Given the description of an element on the screen output the (x, y) to click on. 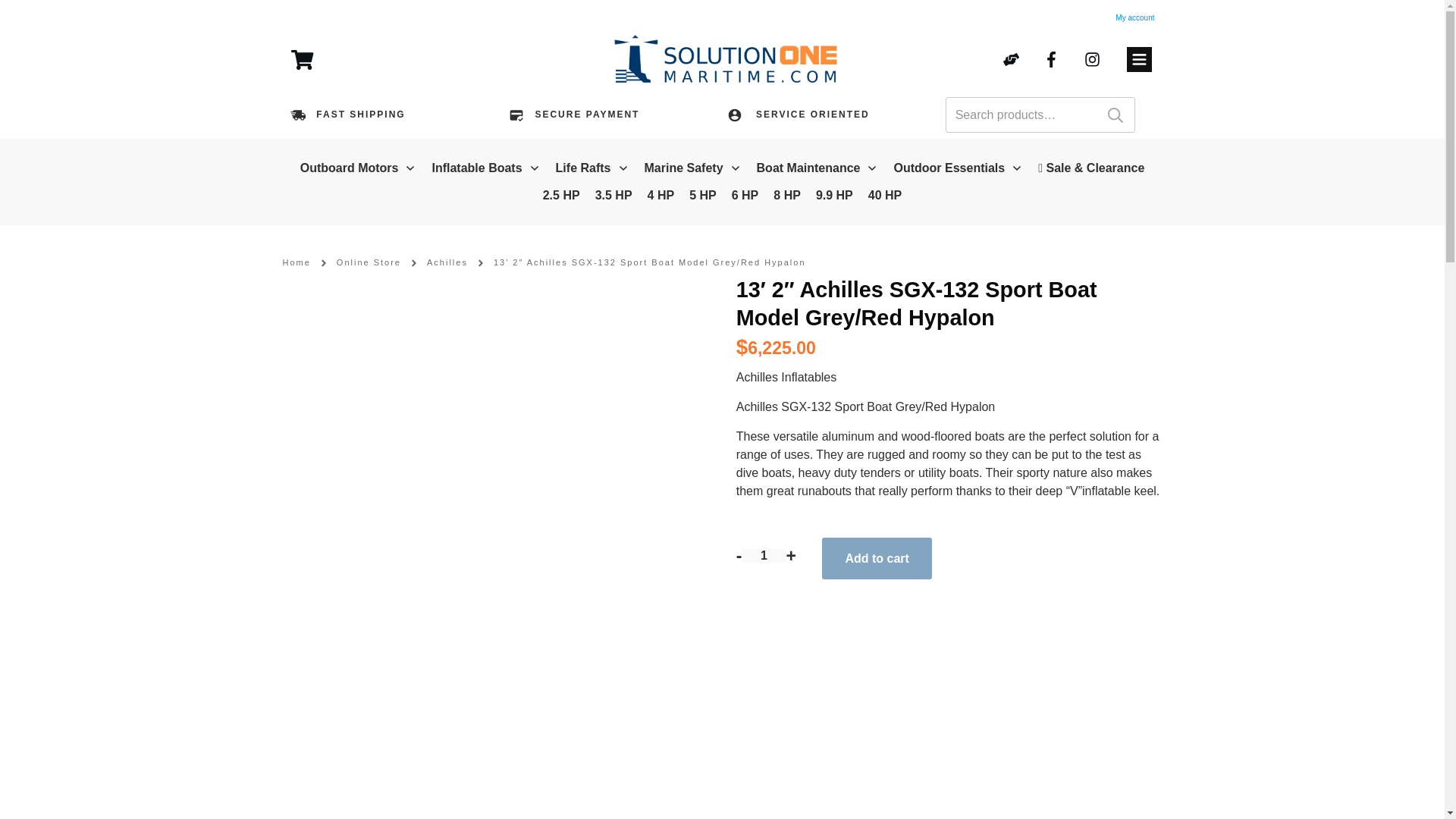
Outboard Motors (357, 168)
1 (763, 555)
My account (1134, 17)
Inflatable Boats (485, 168)
